Given the description of an element on the screen output the (x, y) to click on. 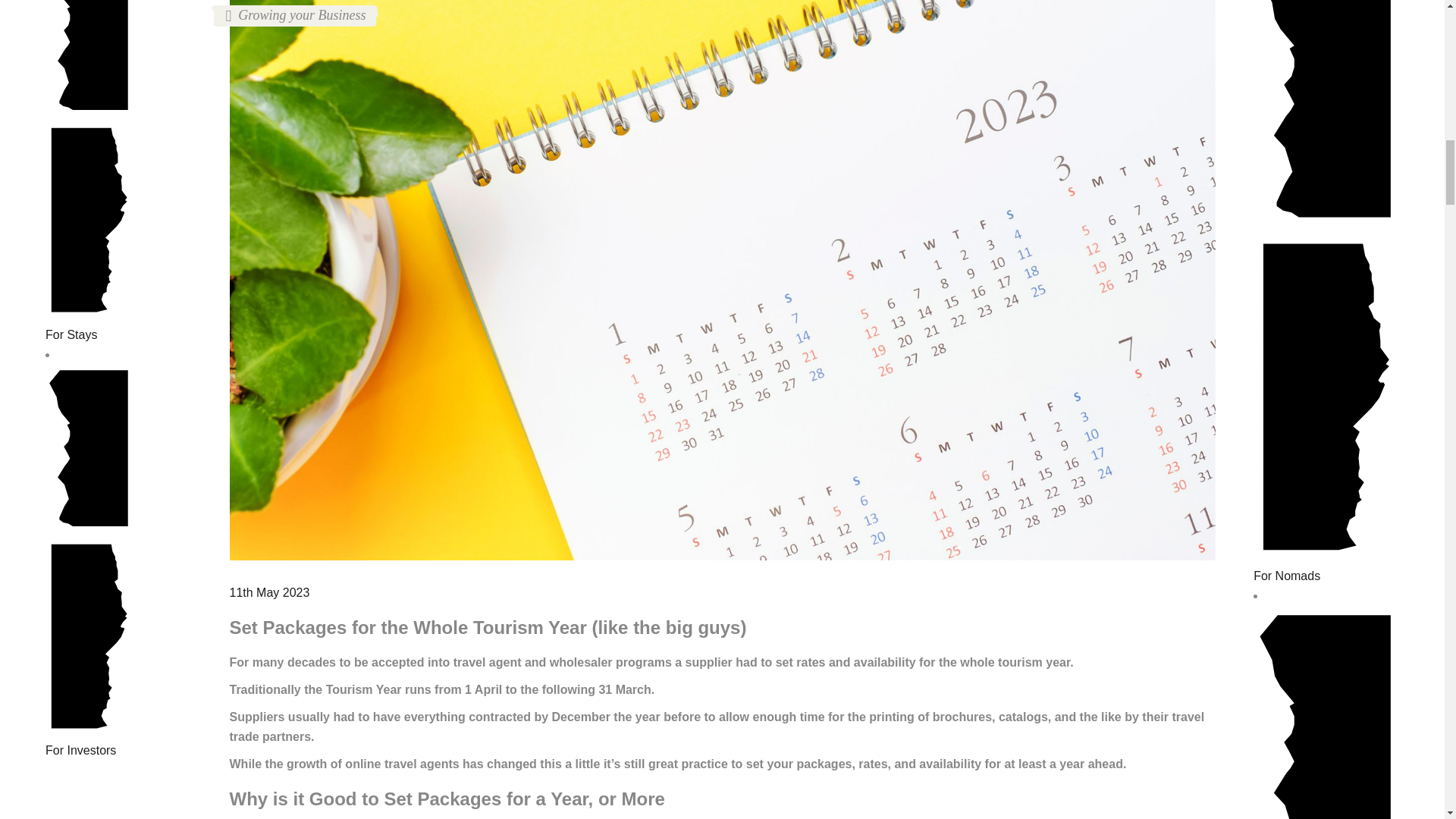
Growing your Business (295, 15)
11th May 2023 (268, 592)
